Given the description of an element on the screen output the (x, y) to click on. 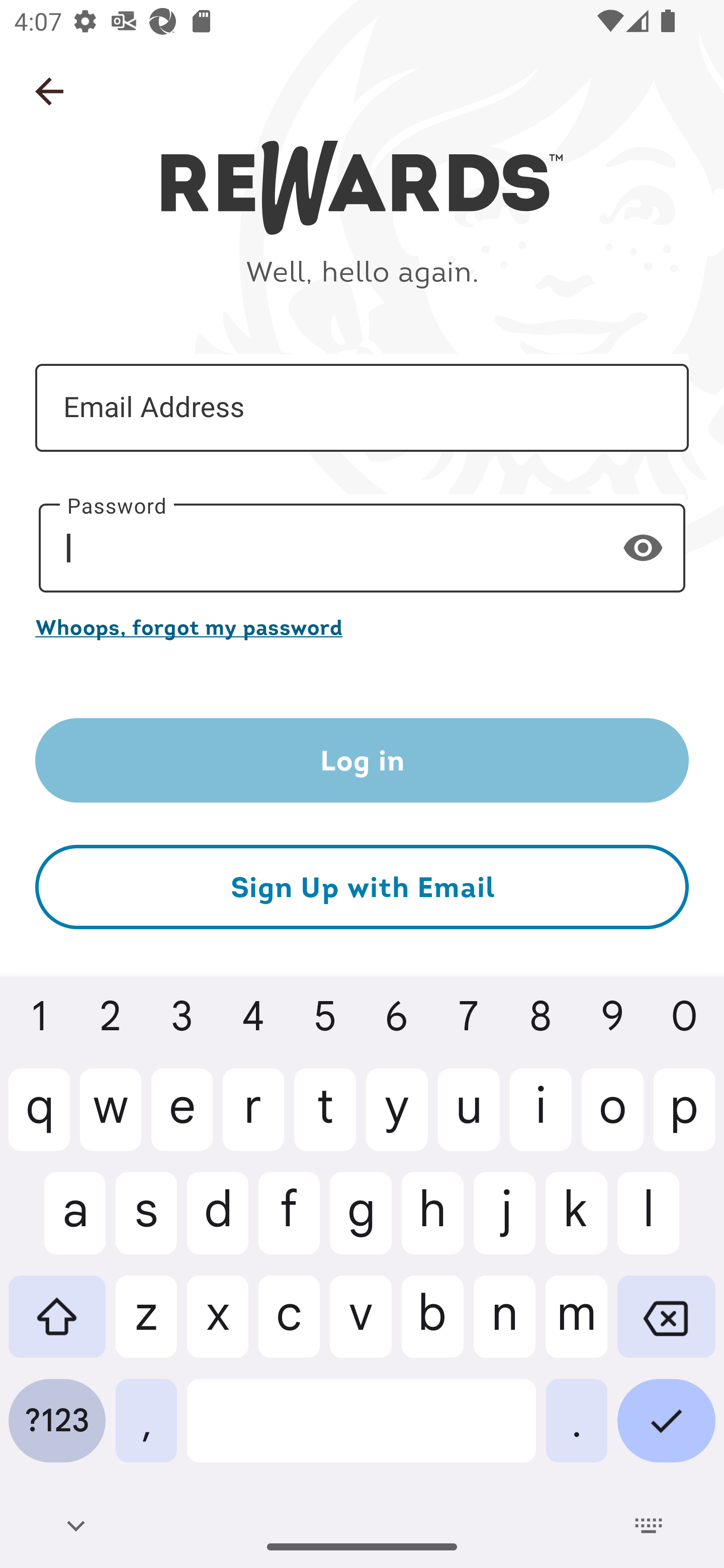
Navigate up (49, 91)
Email Address (361, 407)
Password (361, 547)
Show password (642, 546)
Whoops, forgot my password (361, 627)
Log in (361, 760)
Sign Up with Email (361, 887)
